Given the description of an element on the screen output the (x, y) to click on. 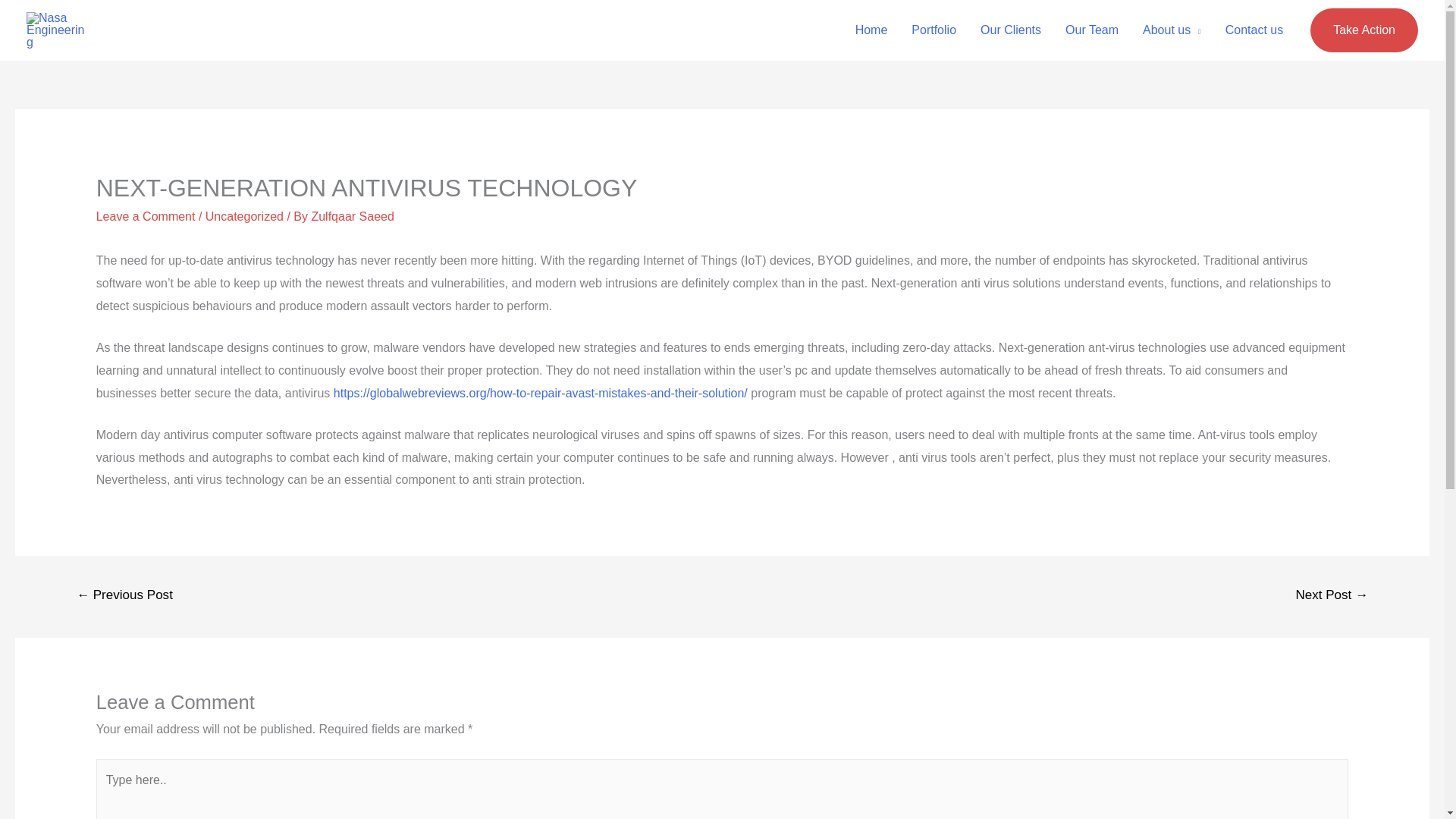
Our Clients (1010, 30)
Contact us (1253, 30)
Our Team (1091, 30)
About us (1171, 30)
Uncategorized (244, 215)
Portfolio (933, 30)
Home (871, 30)
Leave a Comment (145, 215)
View all posts by Zulfqaar Saeed (352, 215)
Zulfqaar Saeed (352, 215)
